Given the description of an element on the screen output the (x, y) to click on. 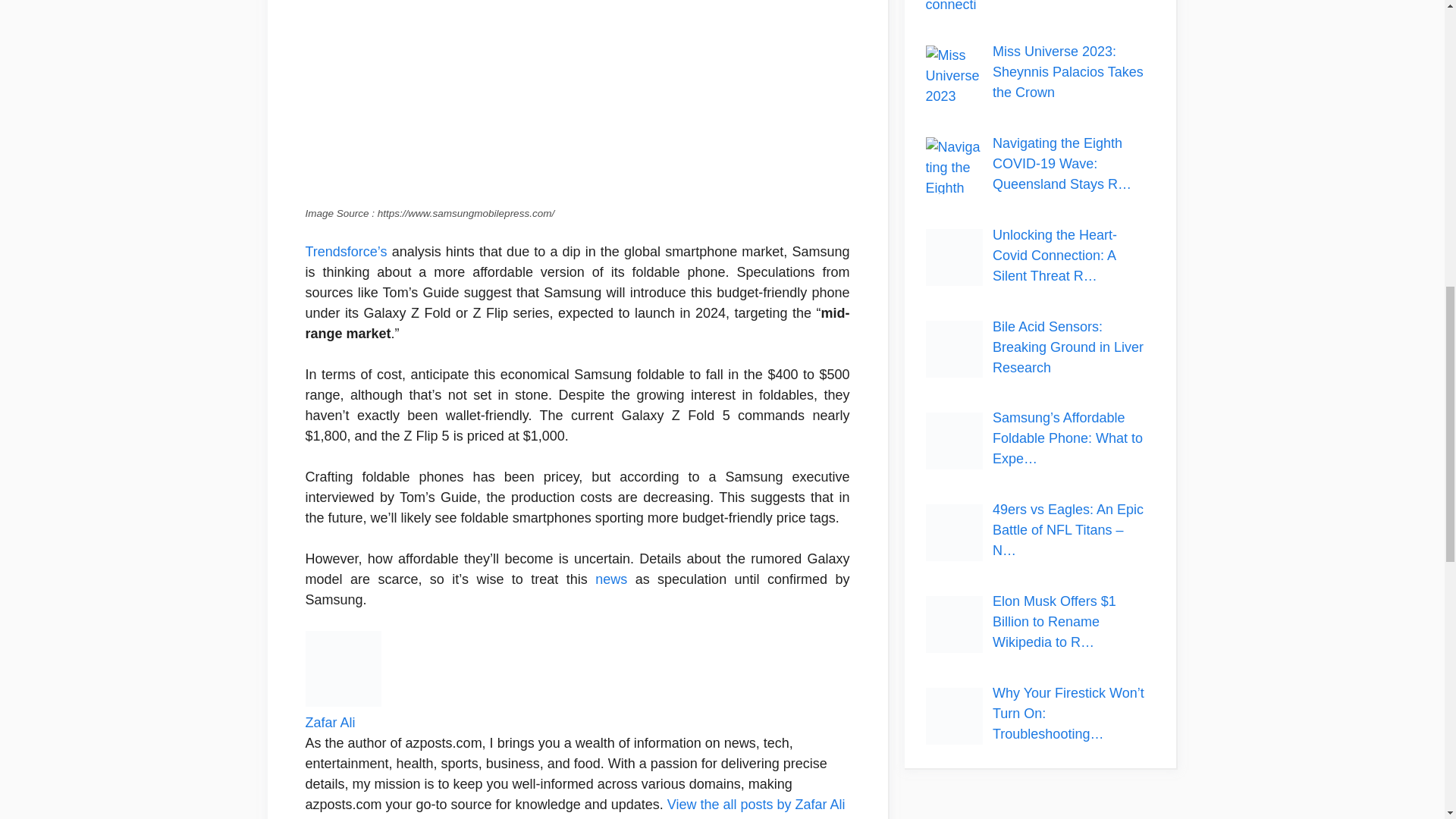
Zafar Ali (329, 722)
Miss Universe 2023: Sheynnis Palacios Takes the Crown (1067, 71)
Scroll back to top (1406, 720)
View the all posts by Zafar Ali (755, 804)
news (611, 579)
